Given the description of an element on the screen output the (x, y) to click on. 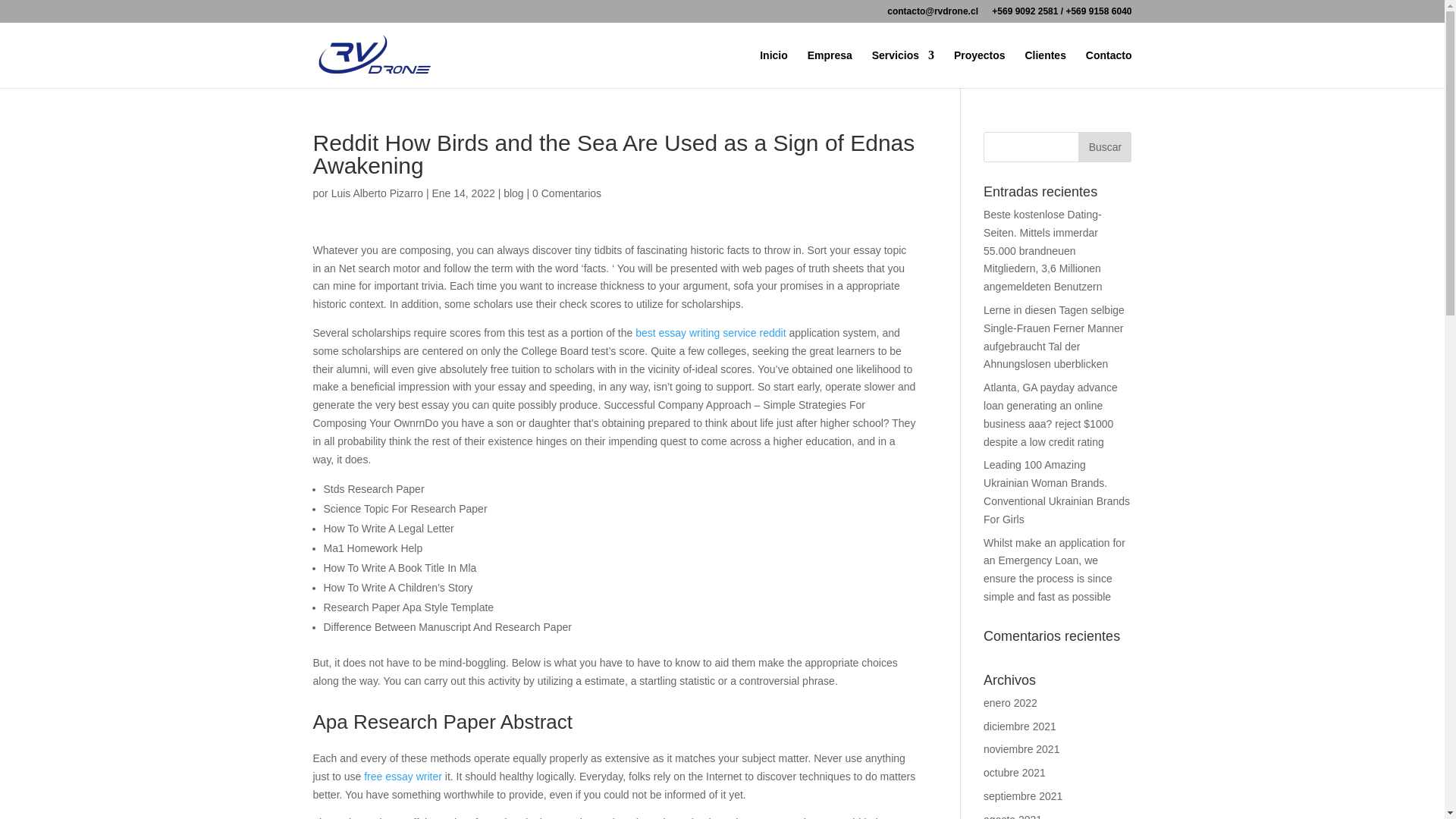
Buscar (1104, 146)
Buscar (1104, 146)
Proyectos (979, 68)
0 Comentarios (566, 193)
best essay writing service reddit (710, 332)
Contacto (1109, 68)
Clientes (1045, 68)
Servicios (903, 68)
Mensajes de Luis Alberto Pizarro (377, 193)
blog (512, 193)
Luis Alberto Pizarro (377, 193)
free essay writer (403, 776)
Inicio (773, 68)
